Given the description of an element on the screen output the (x, y) to click on. 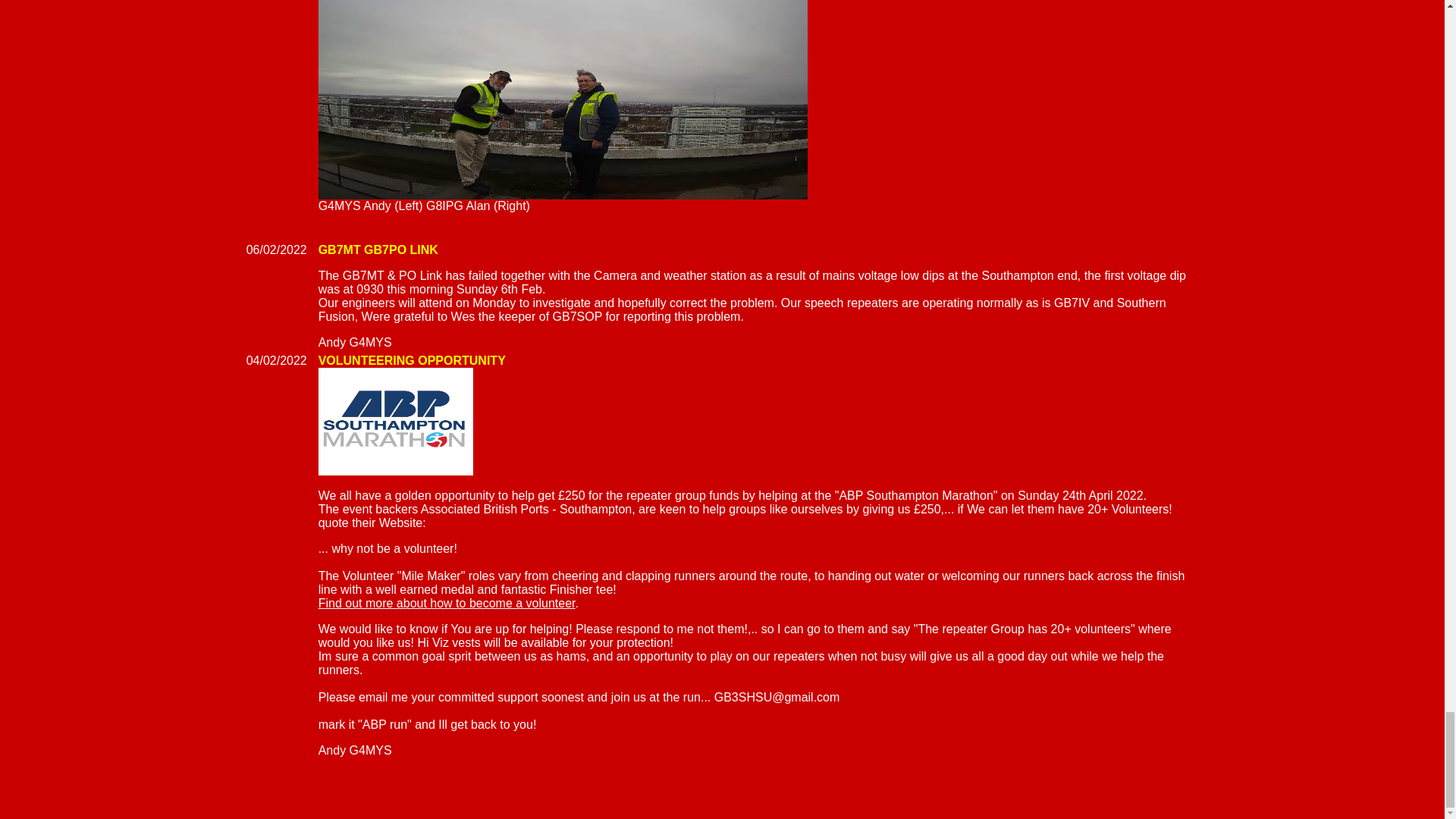
Find out more about how to become a volunteer (446, 603)
